Given the description of an element on the screen output the (x, y) to click on. 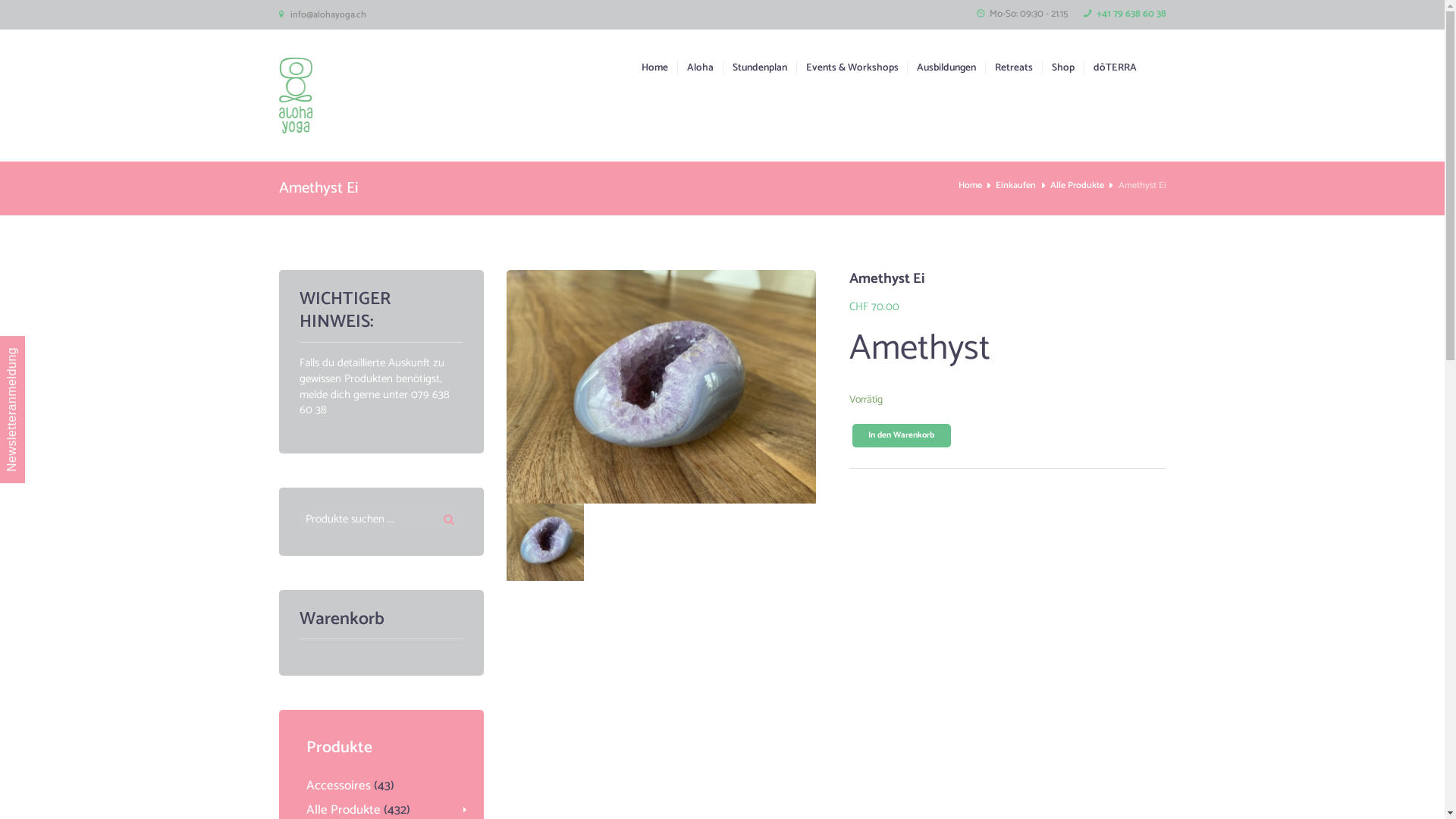
Events & Workshops Element type: text (847, 67)
Home Element type: text (654, 67)
Stundenplan Element type: text (754, 67)
Einkaufen Element type: text (1015, 185)
Accessoires Element type: text (338, 785)
In den Warenkorb Element type: text (901, 435)
Search for products: Element type: hover (380, 519)
Ausbildungen Element type: text (940, 67)
Alle Produkte Element type: text (1077, 185)
Aloha Element type: text (695, 67)
Retreats Element type: text (1008, 67)
IMG_2562 Element type: hover (544, 541)
Shop Element type: text (1057, 67)
Home Element type: text (970, 185)
IMG_2561 Element type: hover (661, 385)
